Given the description of an element on the screen output the (x, y) to click on. 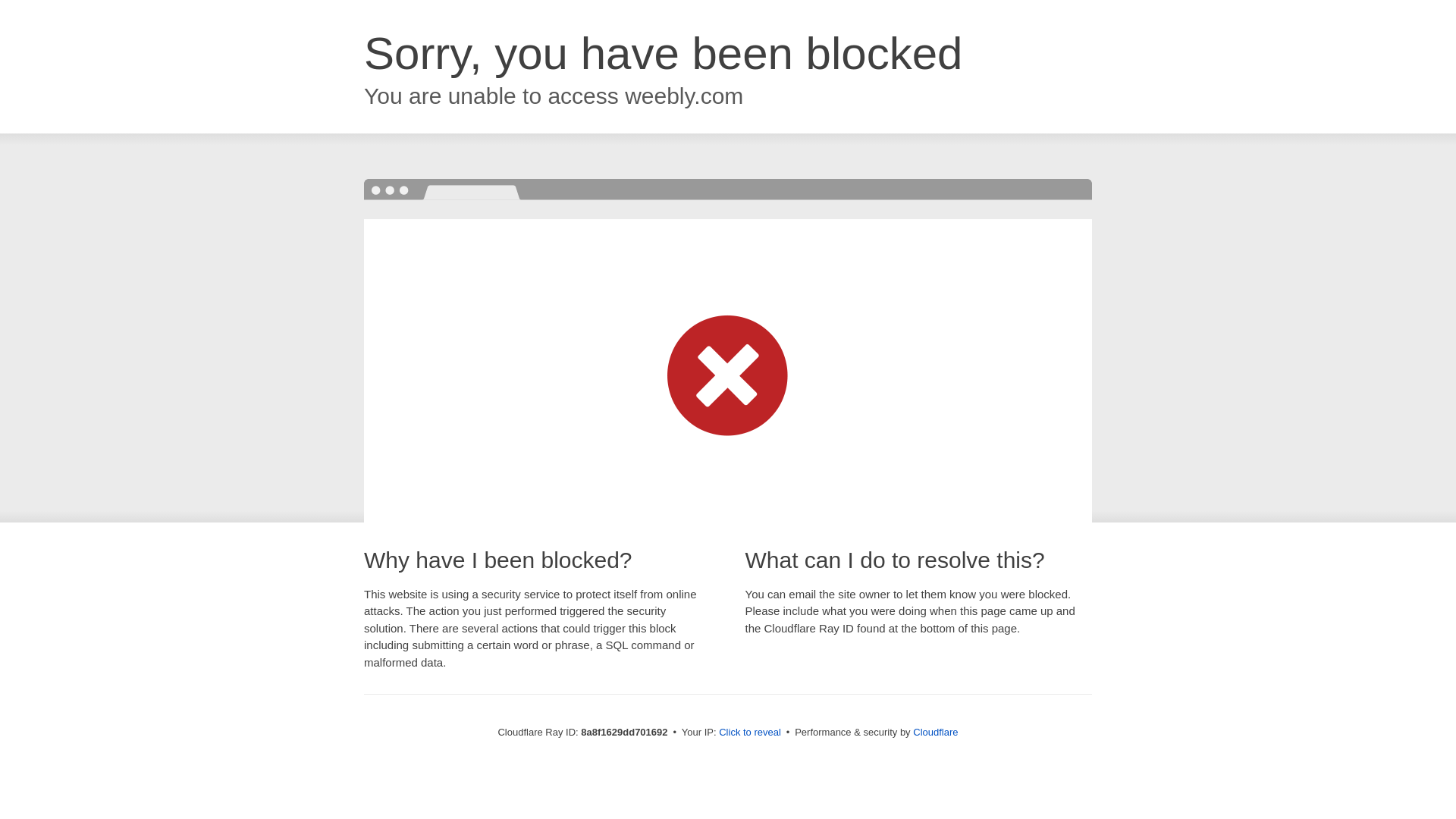
Cloudflare (935, 731)
Click to reveal (749, 732)
